Given the description of an element on the screen output the (x, y) to click on. 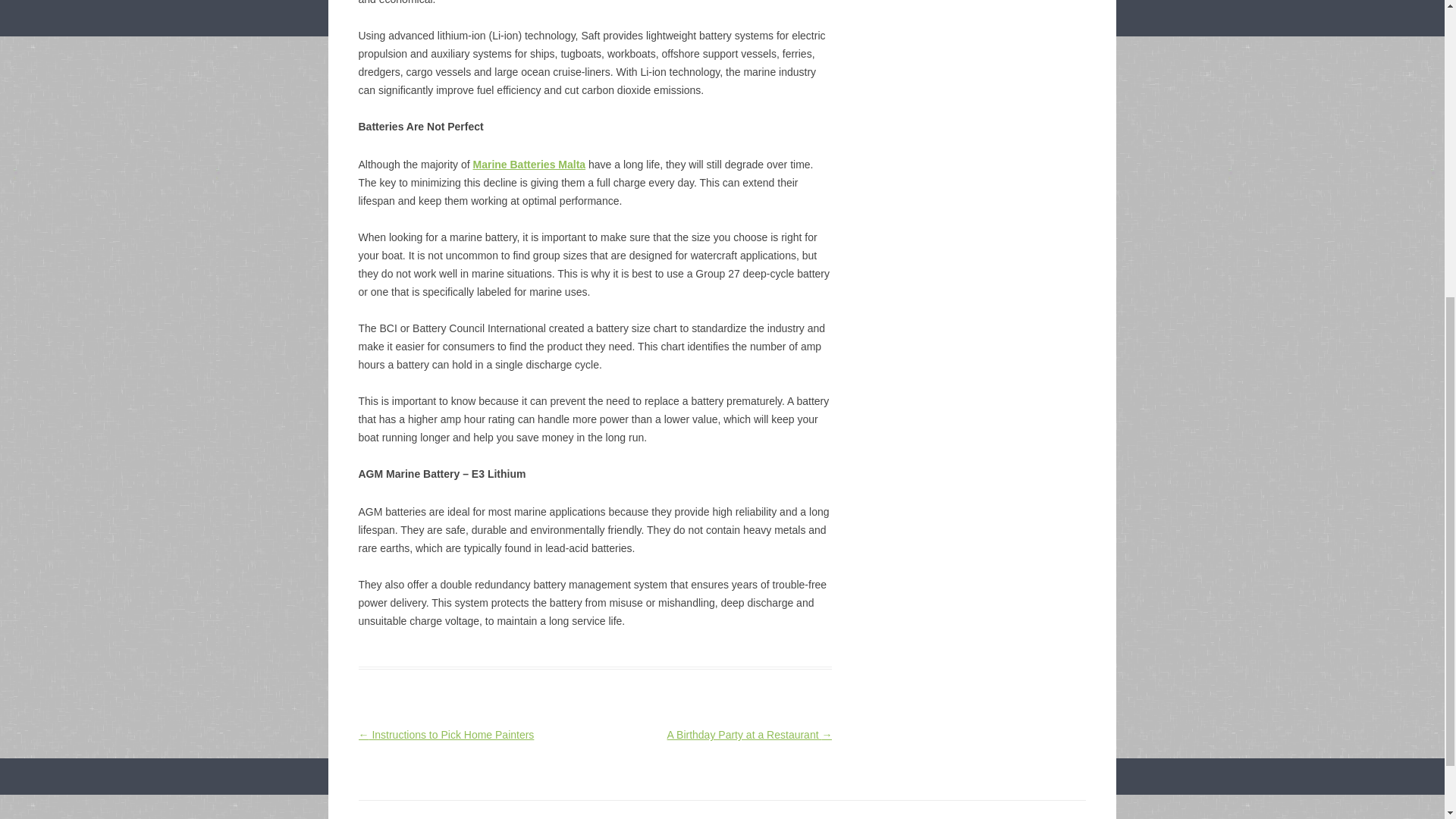
Marine Batteries Malta (528, 164)
